Given the description of an element on the screen output the (x, y) to click on. 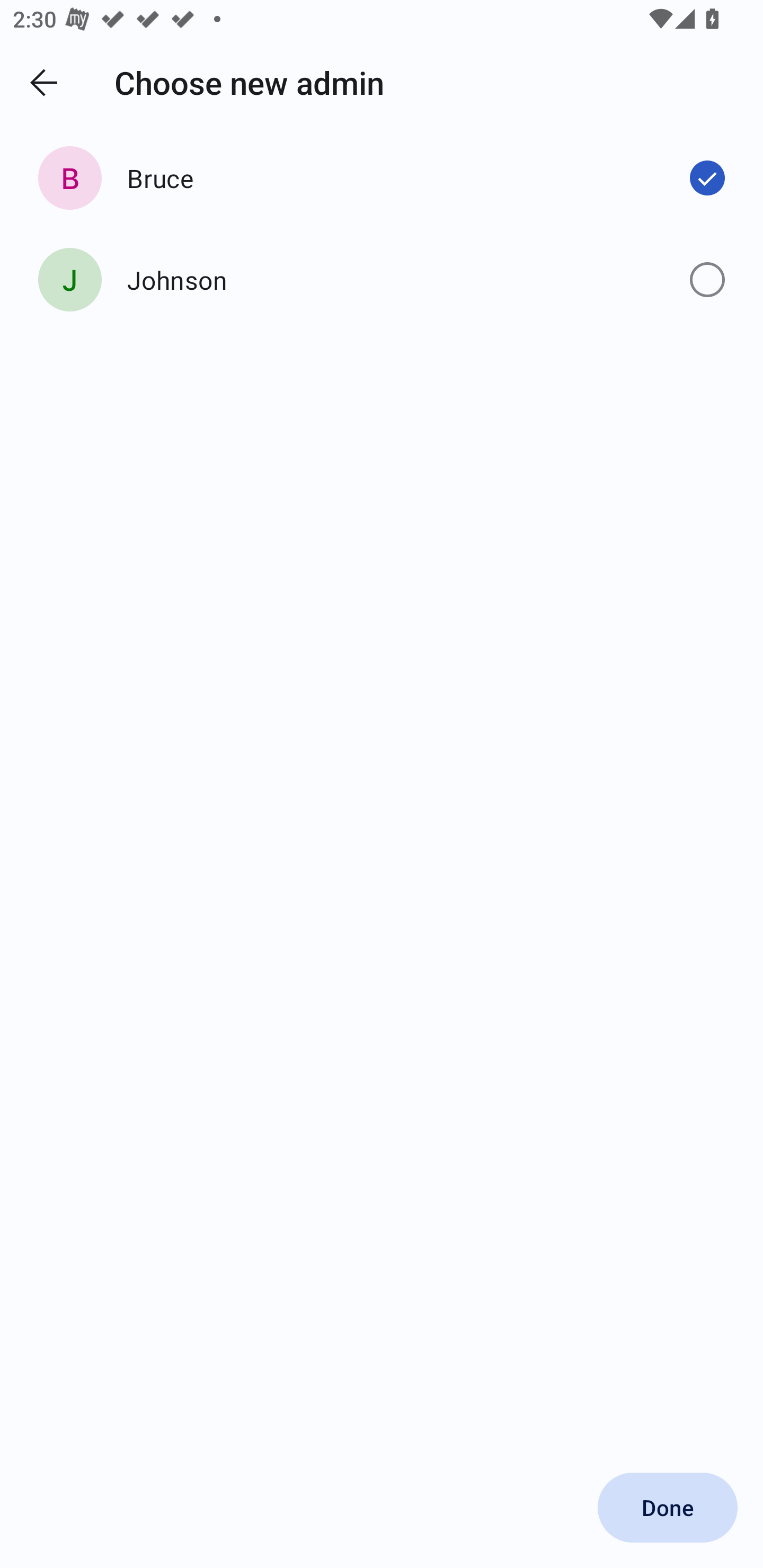
Done (667, 1507)
